Given the description of an element on the screen output the (x, y) to click on. 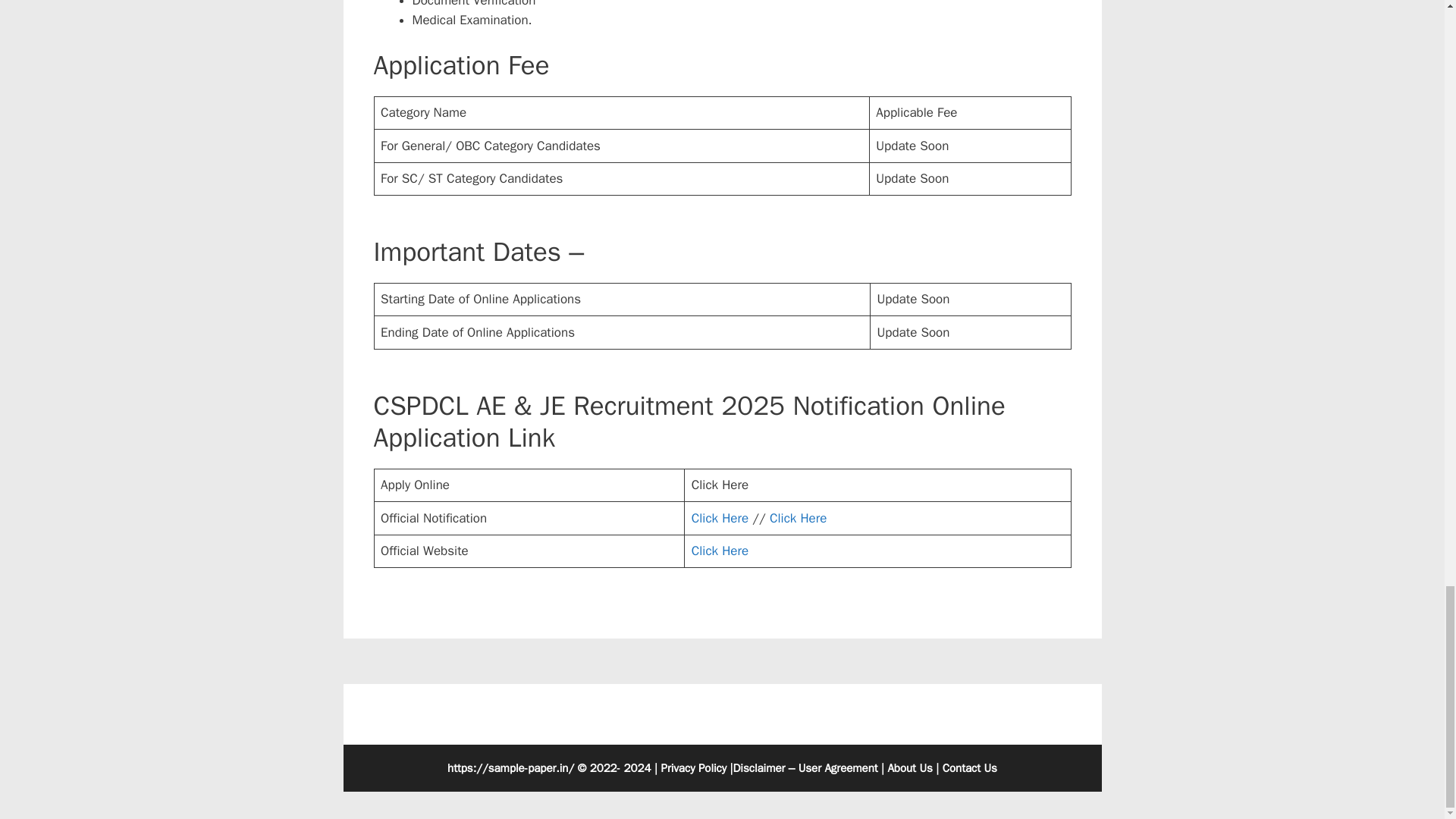
Click Here (719, 550)
Privacy Policy (693, 767)
About Us (908, 767)
Click Here (798, 518)
Contact Us (969, 767)
Click Here (719, 518)
